Given the description of an element on the screen output the (x, y) to click on. 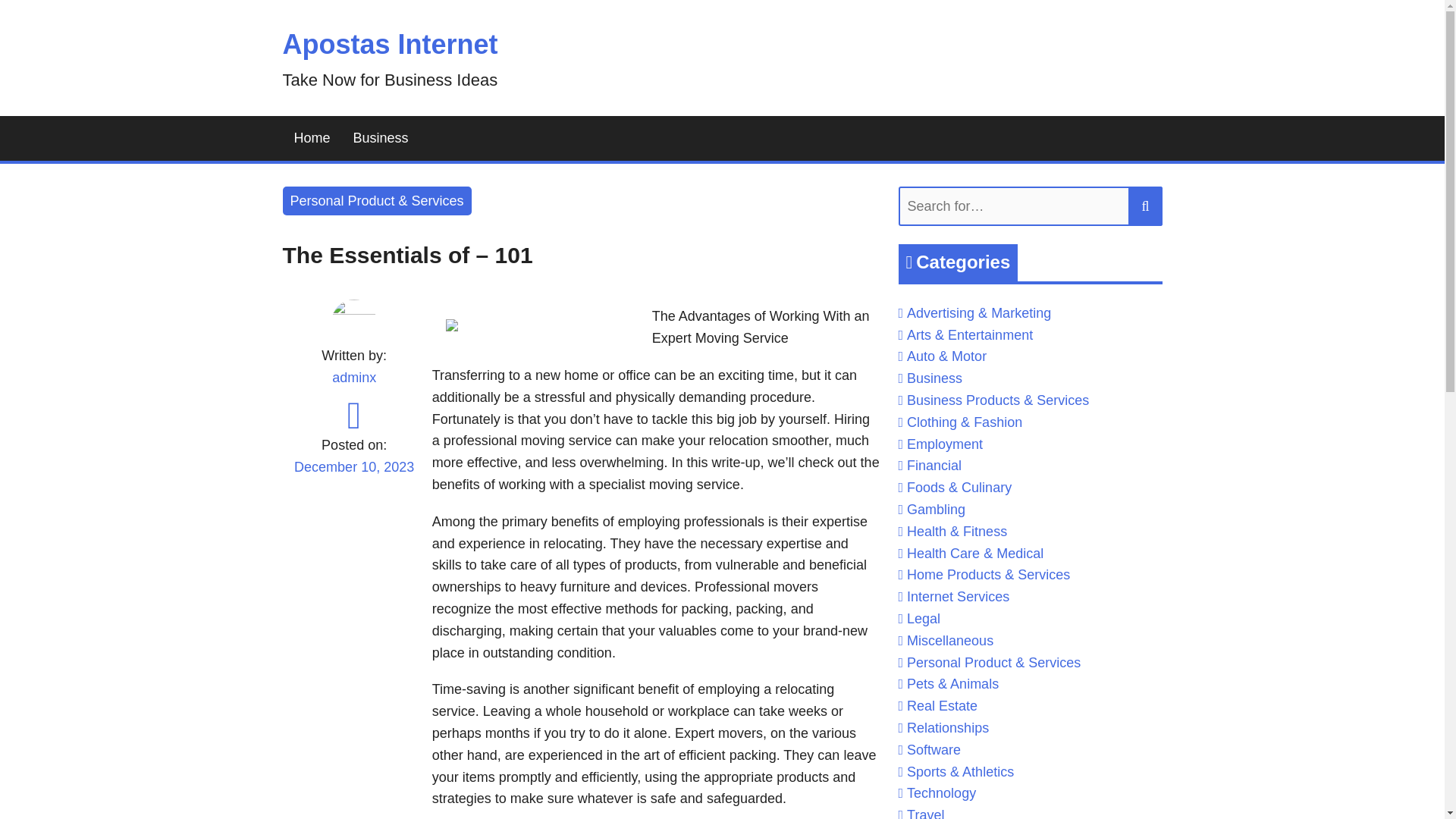
Home (311, 138)
Business (934, 378)
Miscellaneous (949, 640)
Travel (925, 813)
Business (381, 138)
Apostas Internet (389, 43)
Gambling (936, 509)
Software (933, 749)
Financial (933, 465)
Relationships (947, 727)
